Given the description of an element on the screen output the (x, y) to click on. 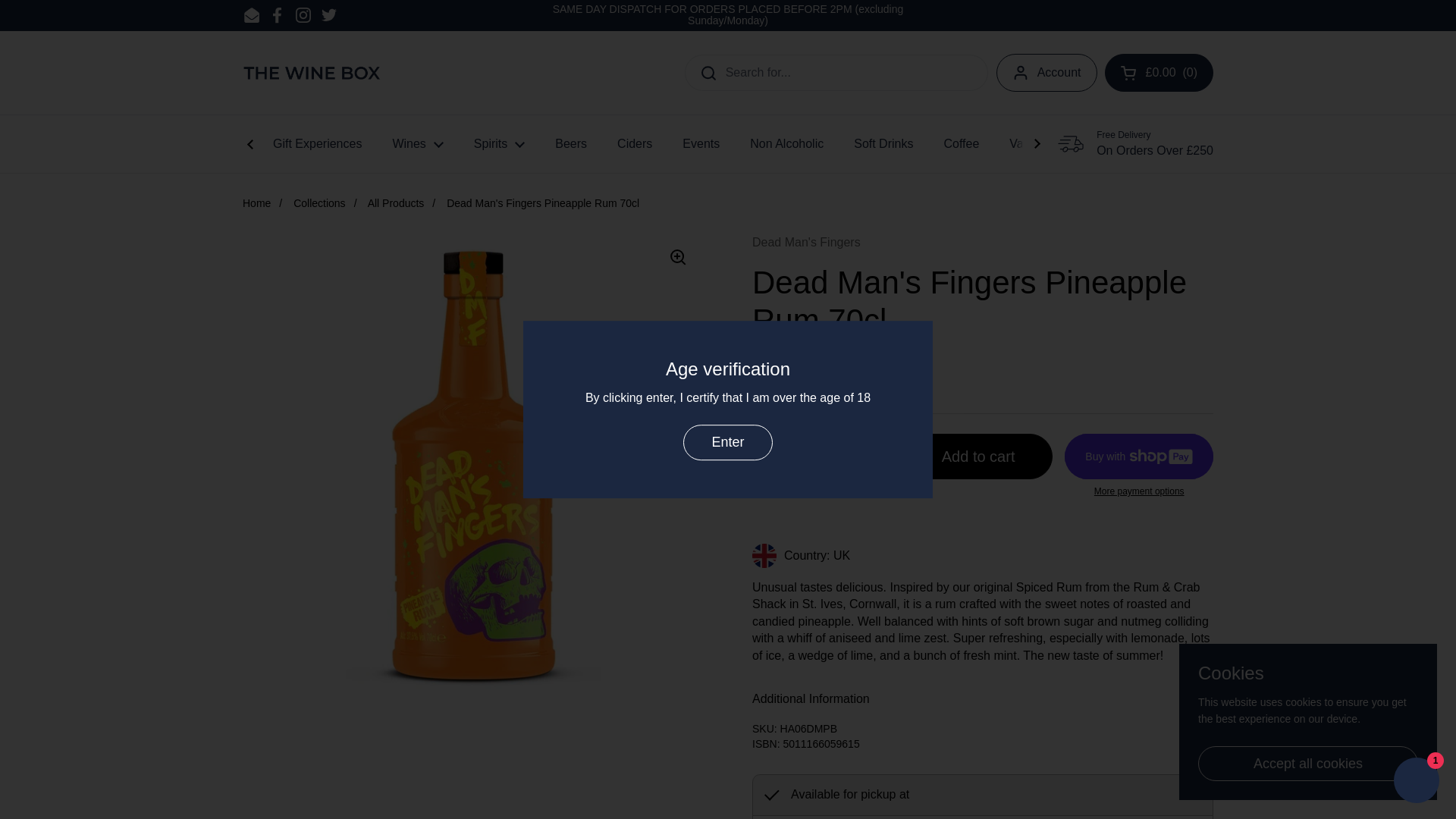
Email (251, 14)
The Wine Box (312, 72)
Gift Experiences (317, 143)
Open cart (1157, 72)
Shopify online store chat (1416, 781)
Wines (417, 143)
Facebook (276, 14)
Instagram (303, 14)
1 (821, 456)
Twitter (328, 14)
Account (1046, 72)
